Given the description of an element on the screen output the (x, y) to click on. 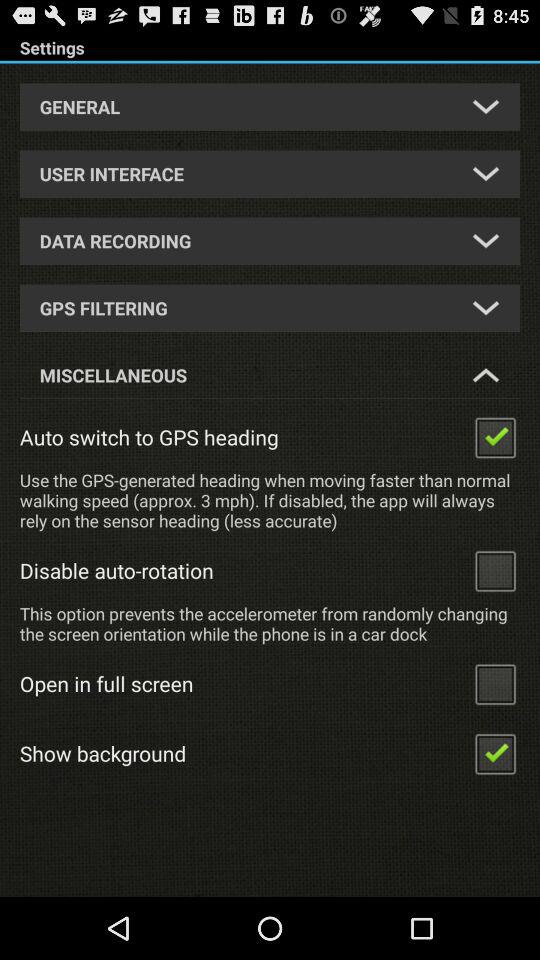
disable auto-rotation (495, 569)
